Given the description of an element on the screen output the (x, y) to click on. 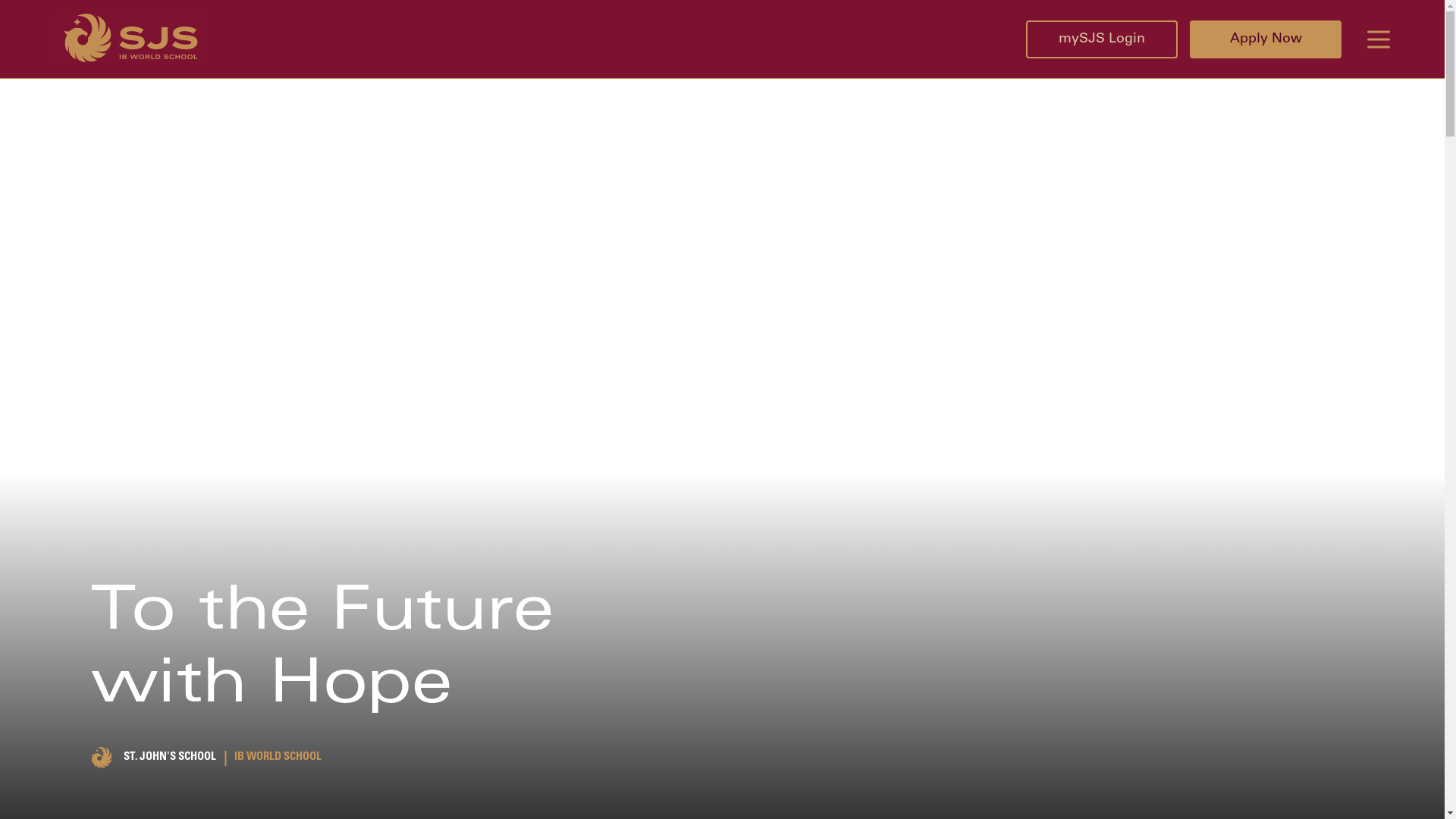
mySJS Login Element type: text (1101, 38)
Open the menu Element type: hover (1378, 38)
Apply Now Element type: text (1265, 38)
